Given the description of an element on the screen output the (x, y) to click on. 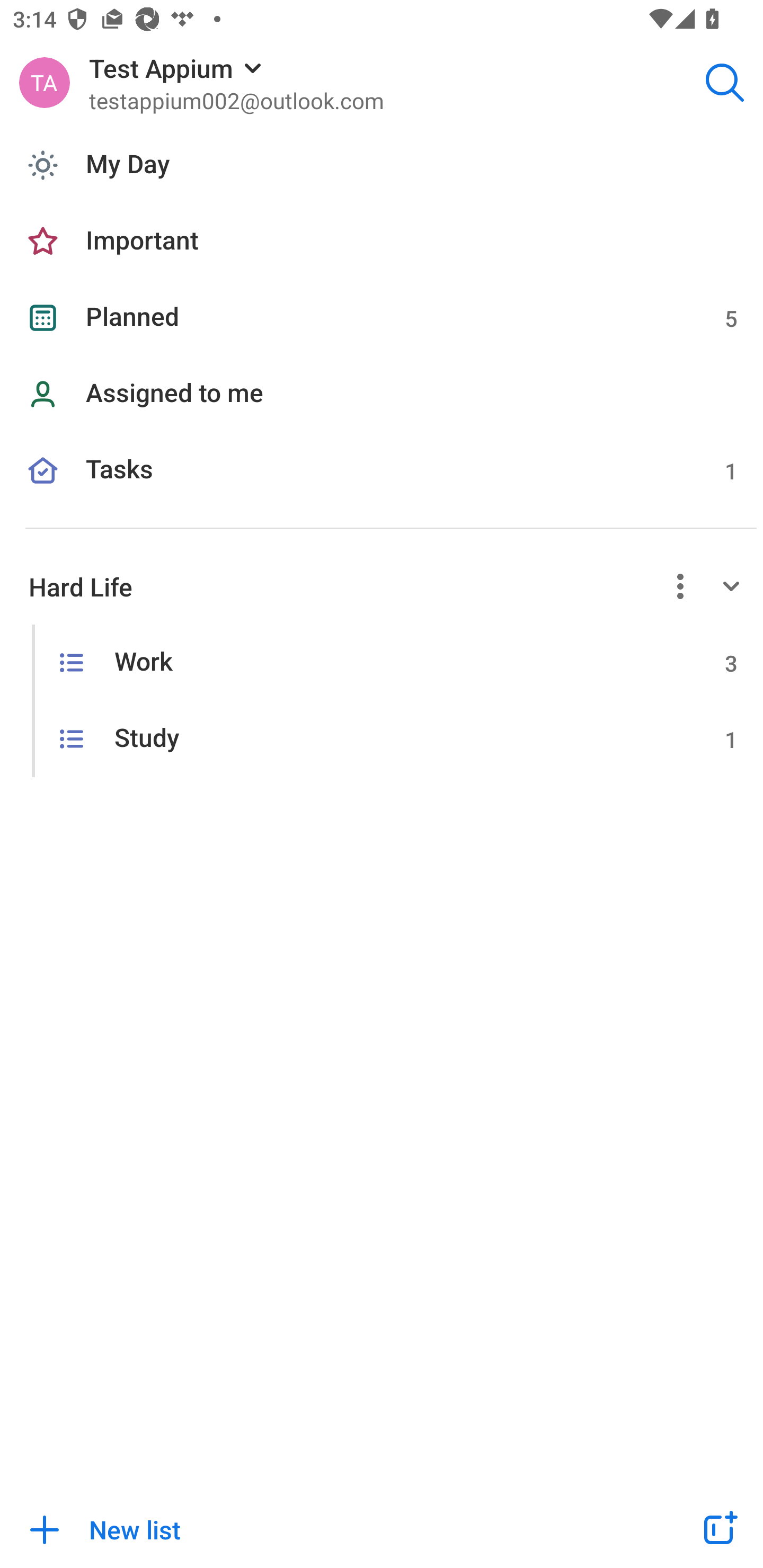
Work, 3 tasks Work 3 (381, 662)
